Given the description of an element on the screen output the (x, y) to click on. 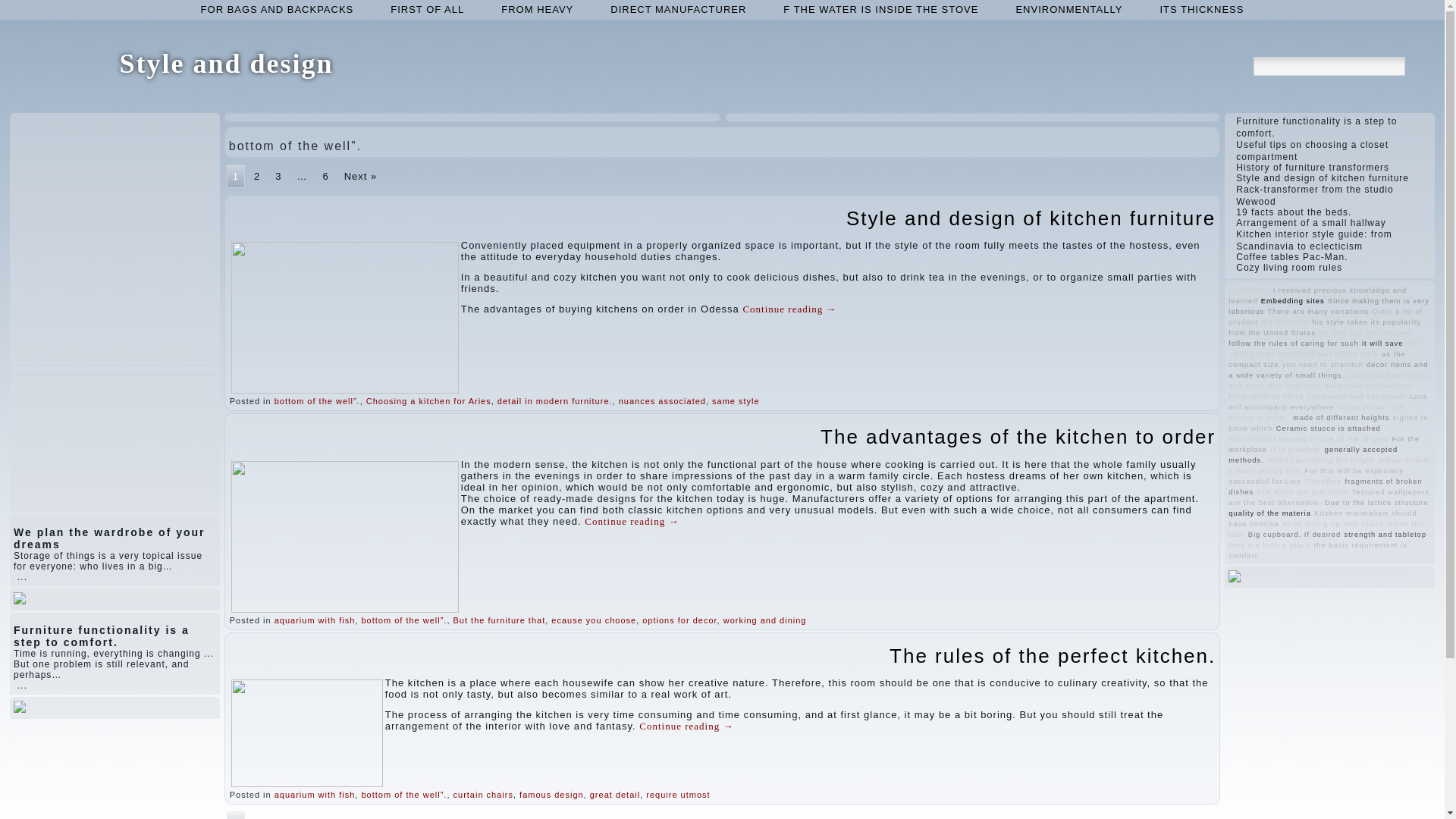
The advantages of the kitchen to order (1018, 436)
working and dining (764, 619)
Style and design of kitchen furniture (1030, 218)
options for decor (679, 619)
FIRST OF ALL (427, 9)
ENVIRONMENTALLY (1068, 9)
curtain chairs (482, 794)
But the furniture that (499, 619)
DIRECT MANUFACTURER (678, 9)
Its thickness (1201, 9)
detail in modern furniture. (554, 400)
great detail (614, 794)
Choosing a kitchen for Aries (429, 400)
... (22, 685)
Style and design (226, 63)
